Given the description of an element on the screen output the (x, y) to click on. 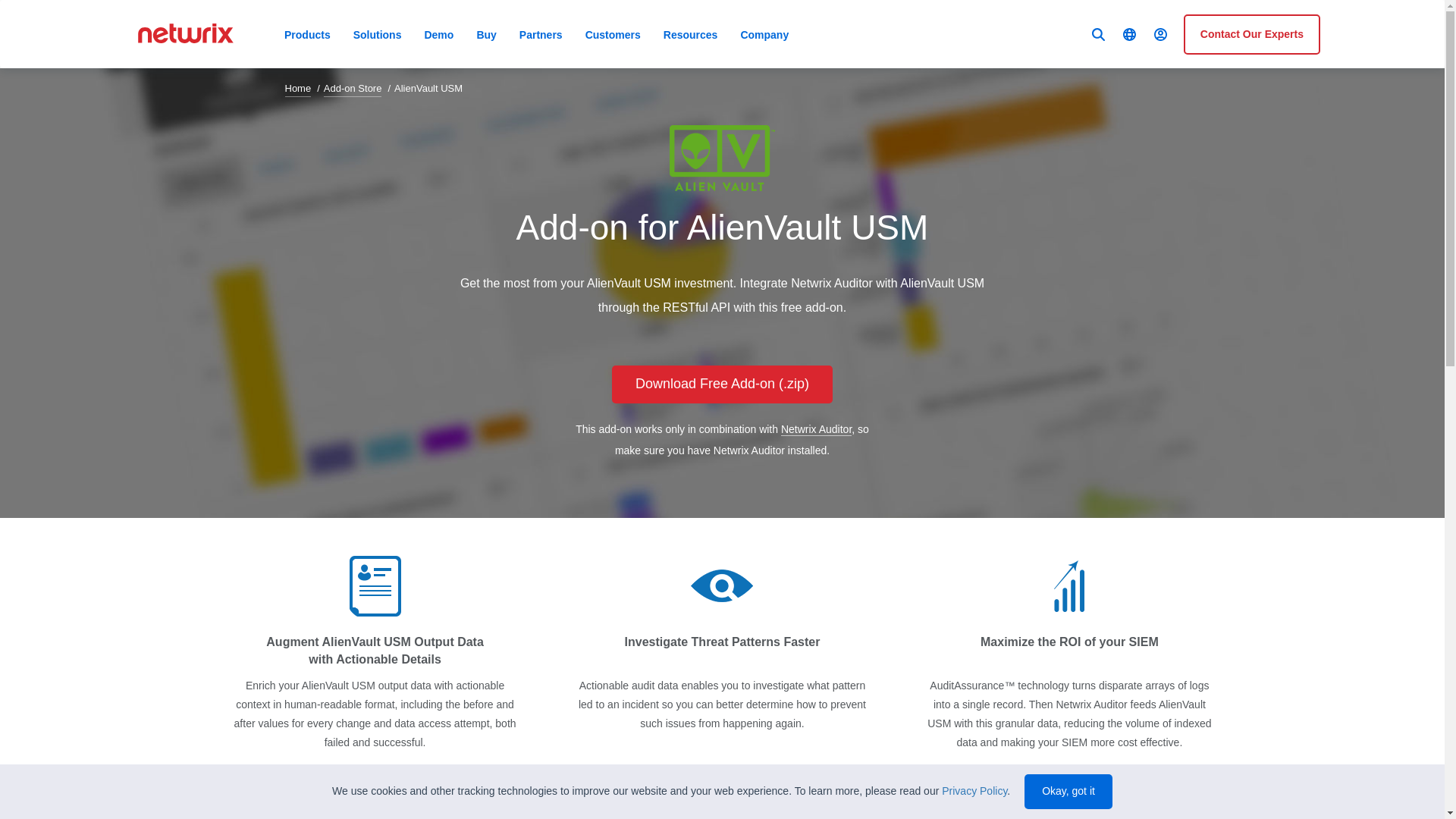
Partners (540, 33)
Products (307, 33)
Solutions (377, 33)
Customers (612, 33)
